Given the description of an element on the screen output the (x, y) to click on. 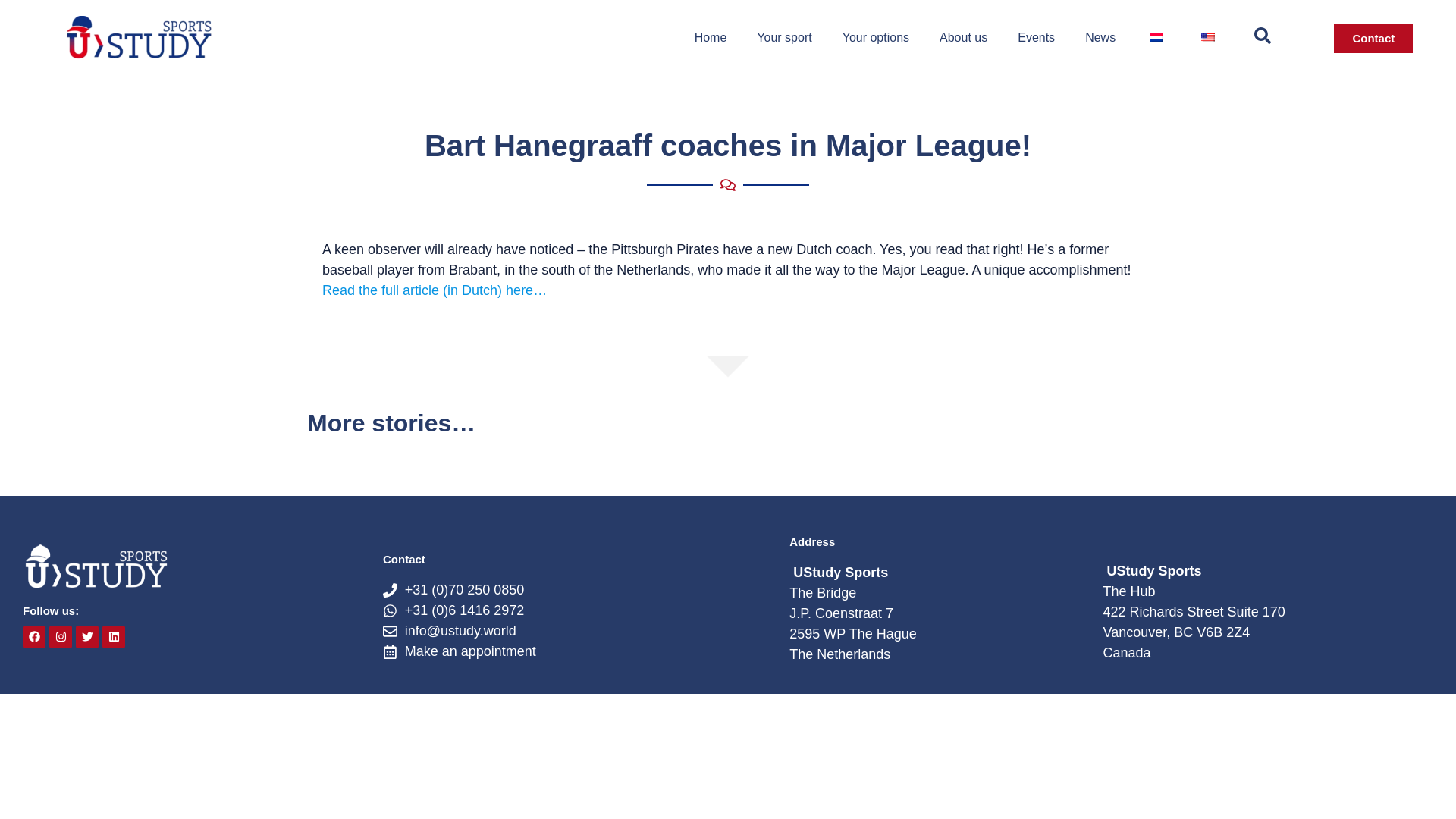
Your sport (784, 38)
Dutch (1156, 37)
English (1207, 37)
Your options (875, 38)
